Given the description of an element on the screen output the (x, y) to click on. 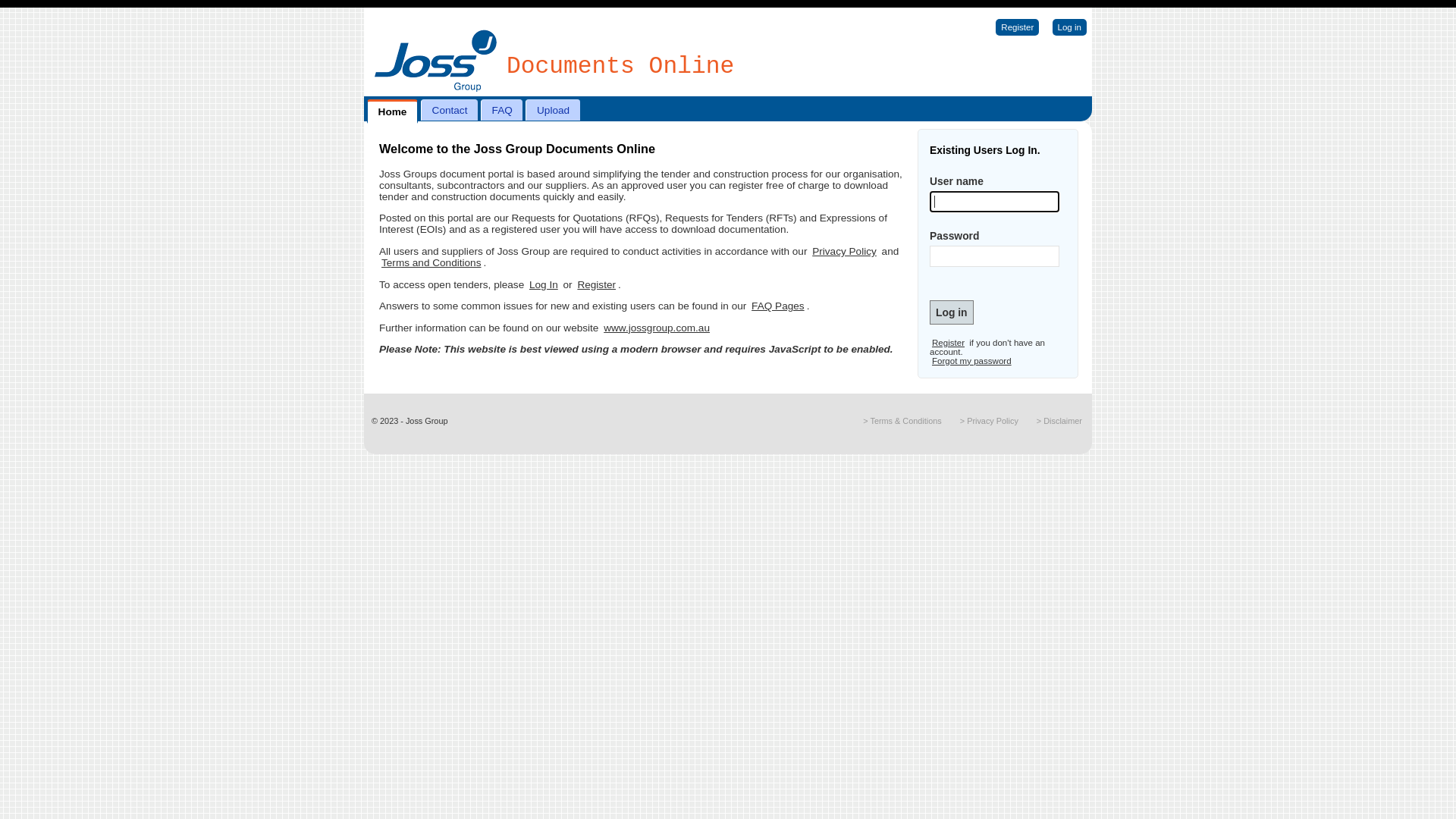
Register Element type: text (947, 342)
Terms and Conditions Element type: text (431, 262)
Documents Online Element type: text (620, 66)
Log in Element type: text (951, 312)
Register Element type: text (596, 284)
Log In Element type: text (543, 284)
Forgot my password Element type: text (971, 360)
www.jossgroup.com.au Element type: text (656, 327)
> Privacy Policy Element type: text (988, 420)
FAQ Element type: text (501, 109)
FAQ Pages Element type: text (777, 305)
> Disclaimer Element type: text (1059, 420)
Upload Element type: text (552, 109)
> Terms & Conditions Element type: text (901, 420)
Privacy Policy Element type: text (843, 251)
Log in Element type: text (1069, 26)
Contact Element type: text (448, 109)
Register Element type: text (1016, 26)
Home Element type: text (392, 111)
